Given the description of an element on the screen output the (x, y) to click on. 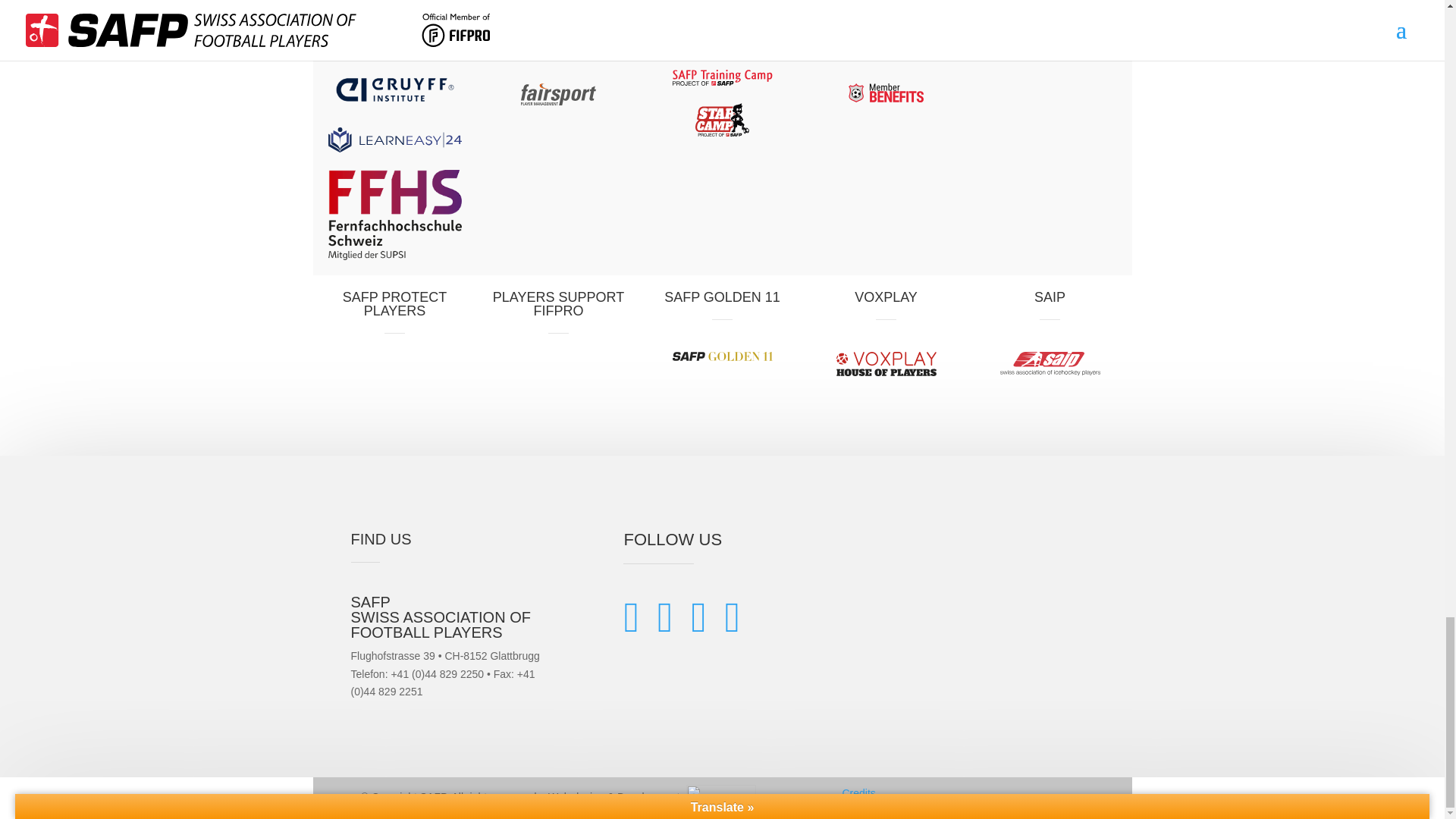
LearnEasy 24 (394, 139)
FFHS (394, 214)
SAFP Training Camp (721, 77)
